Given the description of an element on the screen output the (x, y) to click on. 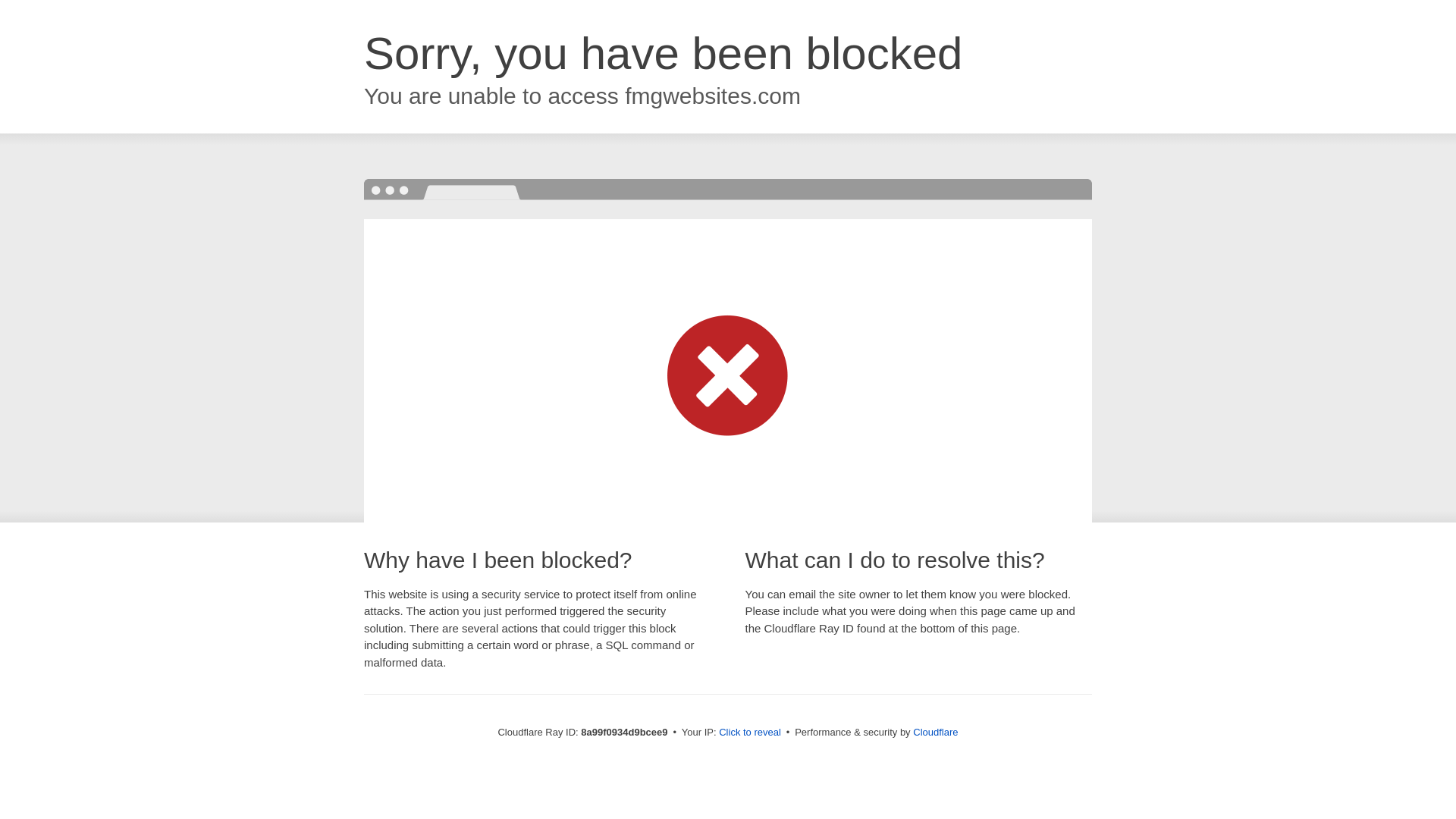
Click to reveal (749, 732)
Cloudflare (935, 731)
